Given the description of an element on the screen output the (x, y) to click on. 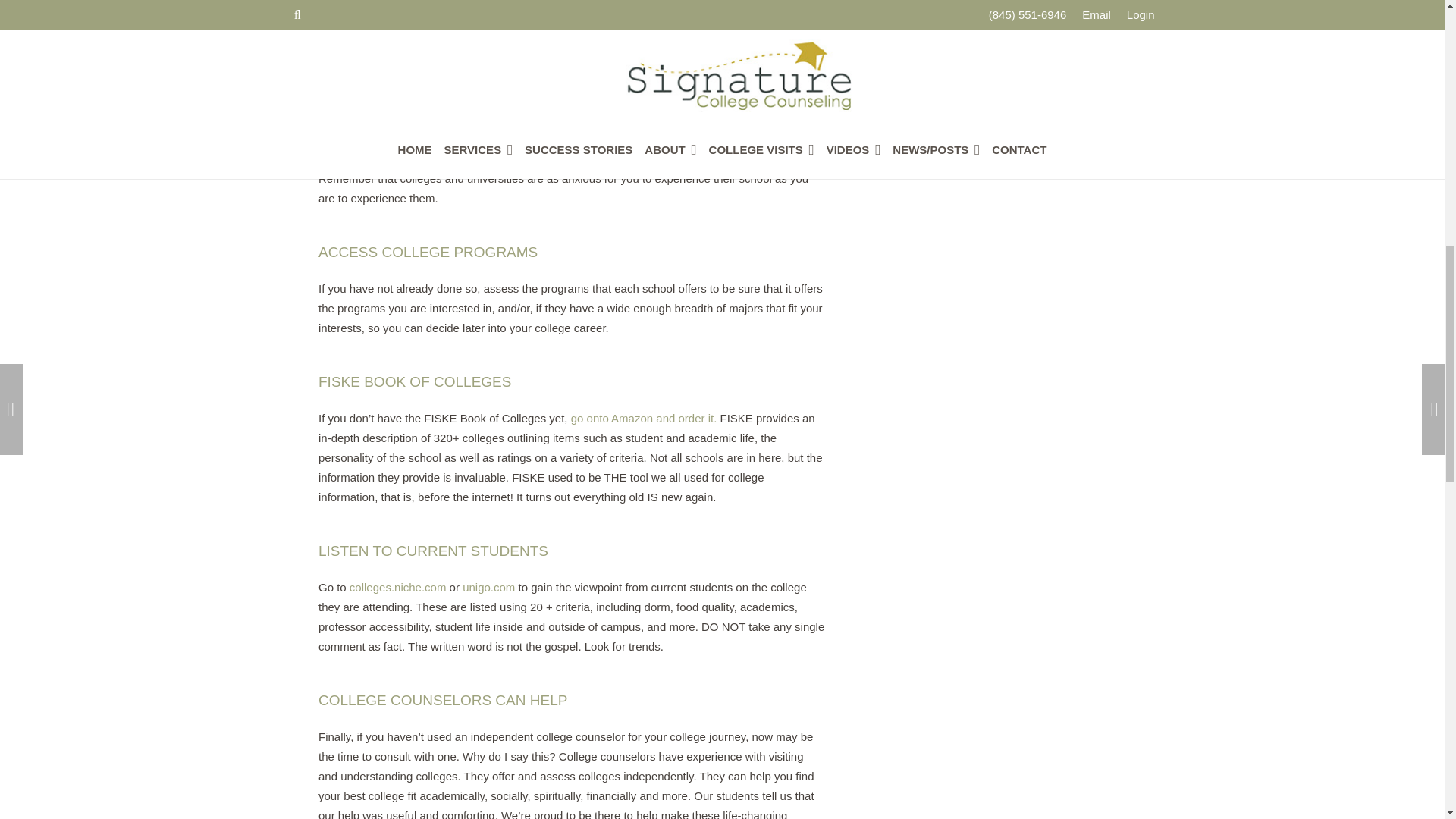
Back to top (1413, 26)
